Given the description of an element on the screen output the (x, y) to click on. 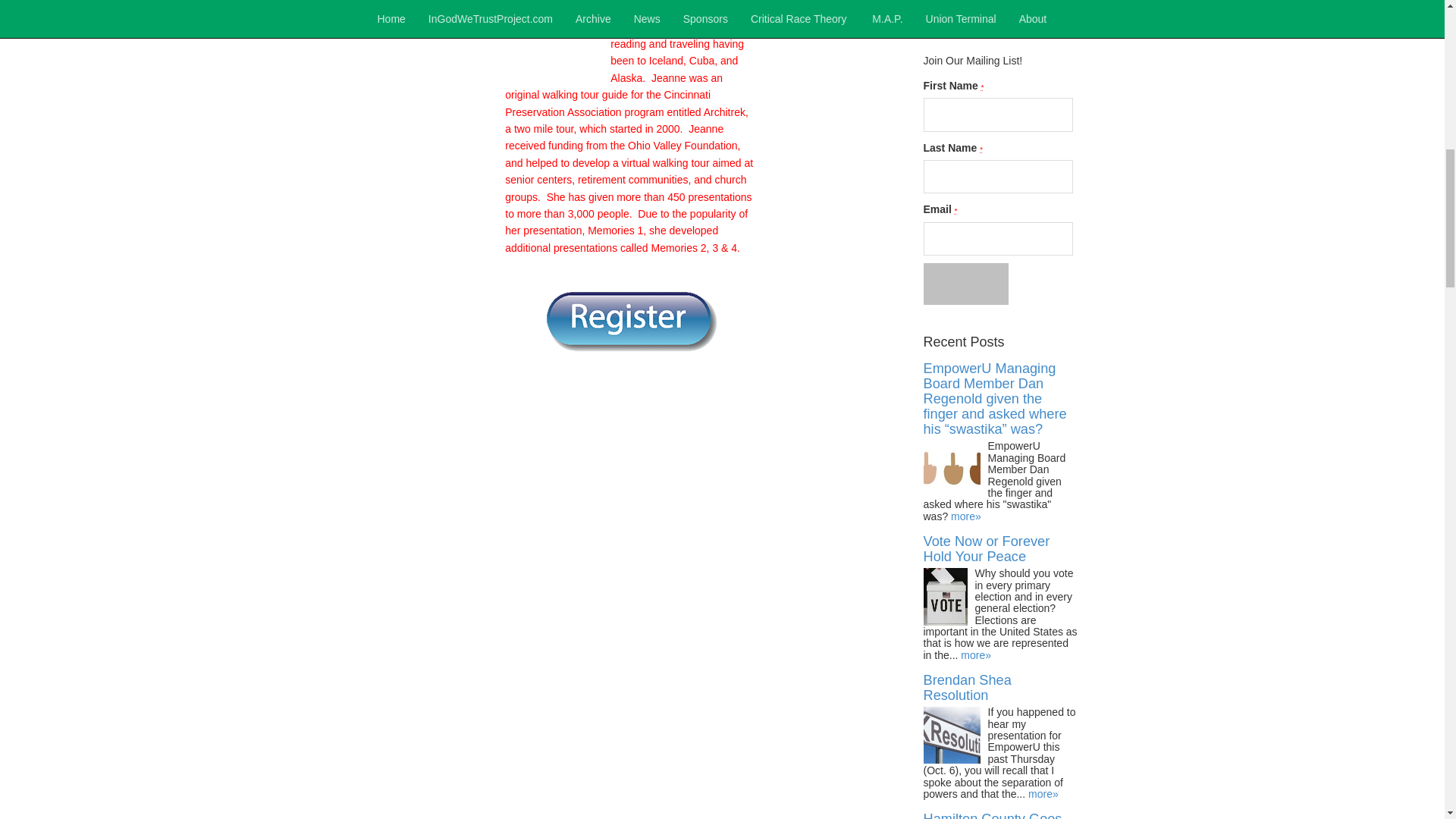
Sign Up (966, 282)
Vote Now or Forever Hold Your Peace (986, 548)
Brendan Shea Resolution (967, 687)
Sign Up (966, 282)
Class Registration (629, 320)
Hamilton County Goes Woke (992, 815)
Search for: (1000, 20)
